Given the description of an element on the screen output the (x, y) to click on. 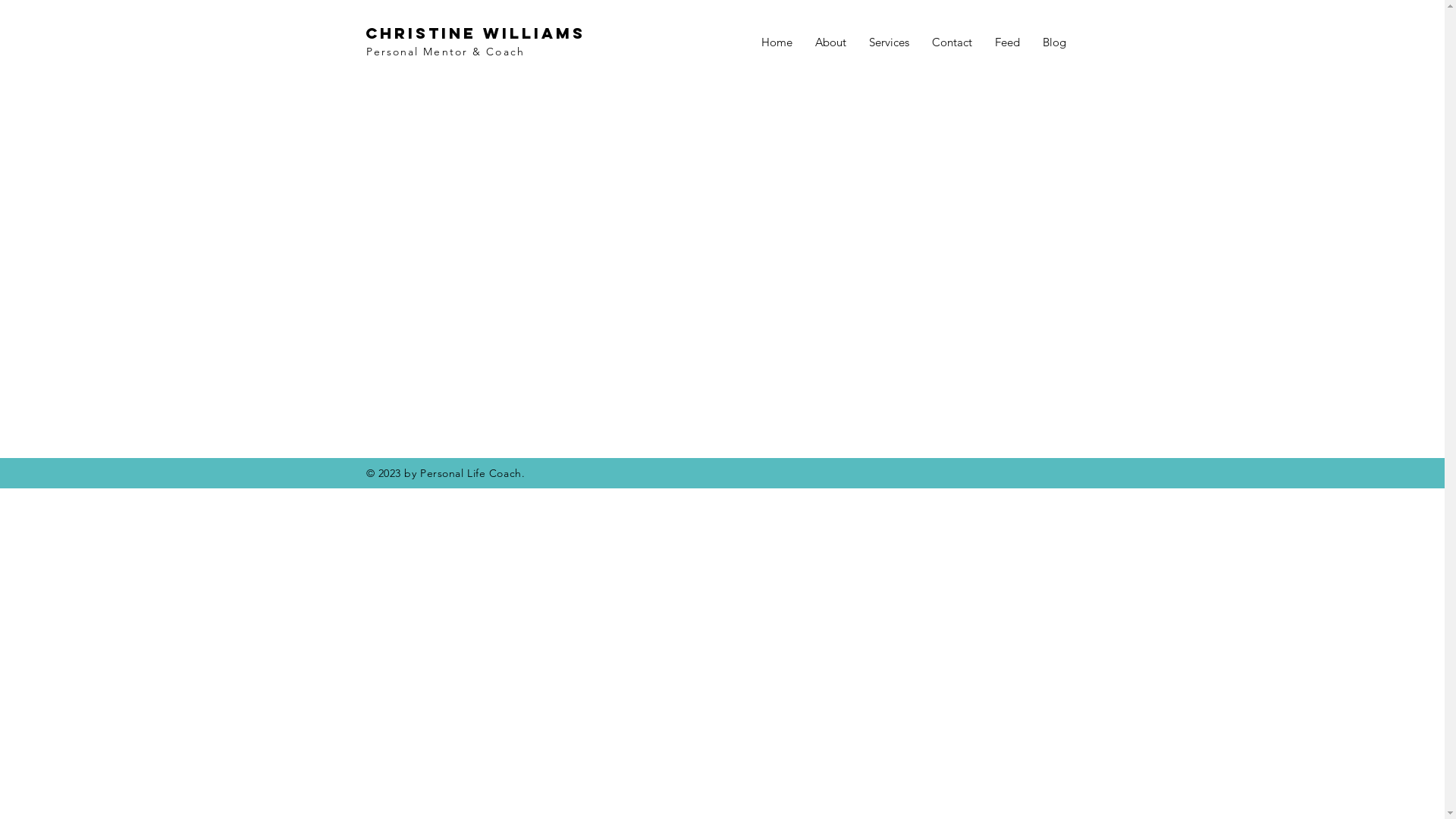
About Element type: text (830, 42)
Blog Element type: text (1054, 42)
Services Element type: text (887, 42)
Feed Element type: text (1006, 42)
Personal Mentor & Coach Element type: text (444, 51)
Contact Element type: text (951, 42)
Home Element type: text (776, 42)
CHRISTINE WILLIAMS Element type: text (475, 32)
